Given the description of an element on the screen output the (x, y) to click on. 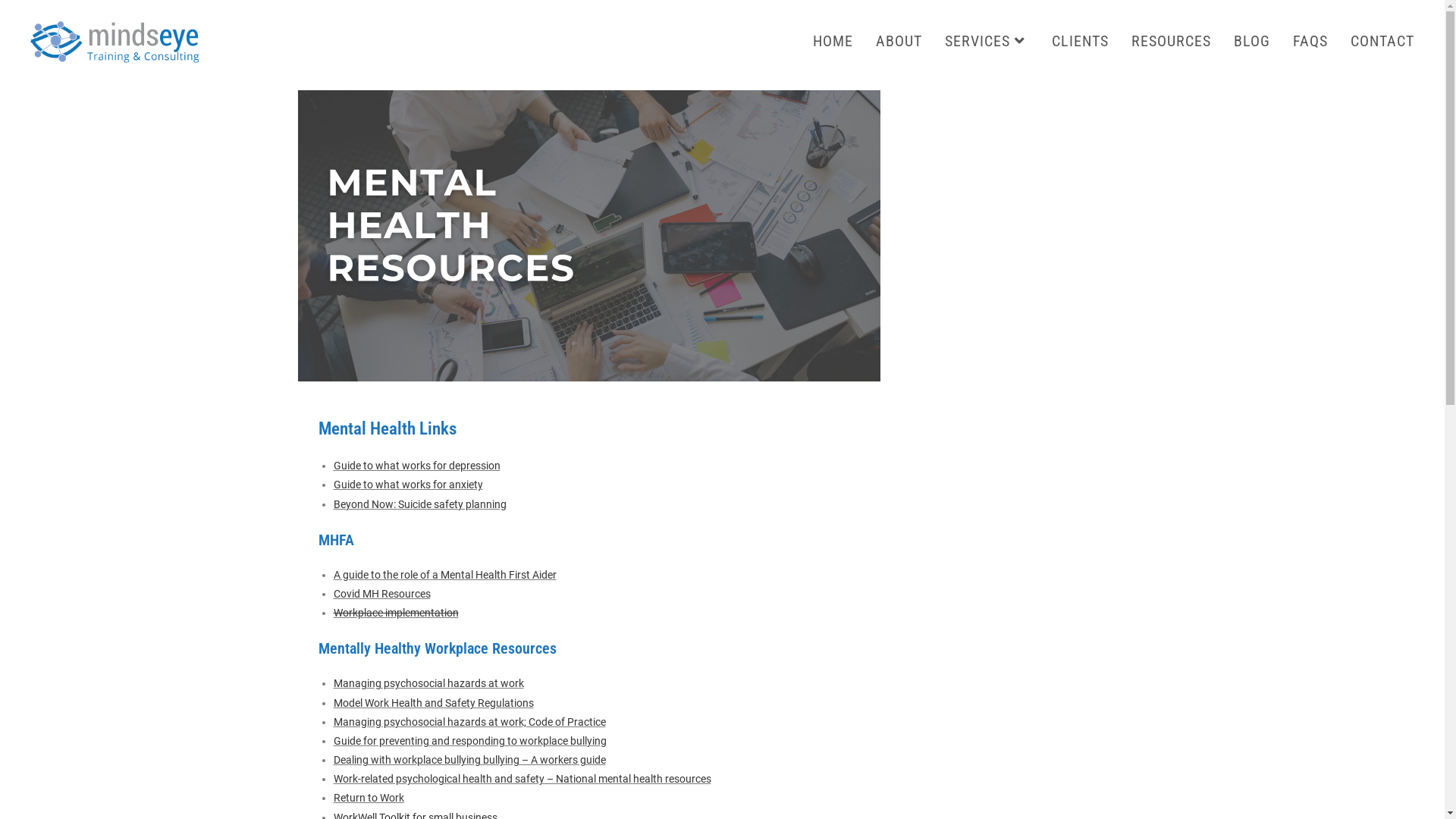
SERVICES Element type: text (986, 41)
Workplace implementation Element type: text (395, 612)
Return to Work Element type: text (368, 797)
A guide to the role of a Mental Health First Aider Element type: text (444, 574)
FAQS Element type: text (1310, 41)
HOME Element type: text (832, 41)
CLIENTS Element type: text (1080, 41)
Guide for preventing and responding to workplace bullying Element type: text (469, 740)
Guide to what works for anxiety Element type: text (408, 484)
Guide to what works for depression Element type: text (416, 465)
Managing psychosocial hazards at work Element type: text (428, 683)
ABOUT Element type: text (898, 41)
Beyond Now: Suicide safety planning Element type: text (419, 504)
RESOURCES Element type: text (1171, 41)
Covid MH Resources Element type: text (381, 593)
CONTACT Element type: text (1382, 41)
BLOG Element type: text (1251, 41)
Managing psychosocial hazards at work; Code of Practice Element type: text (469, 721)
Model Work Health and Safety Regulations Element type: text (433, 702)
